Given the description of an element on the screen output the (x, y) to click on. 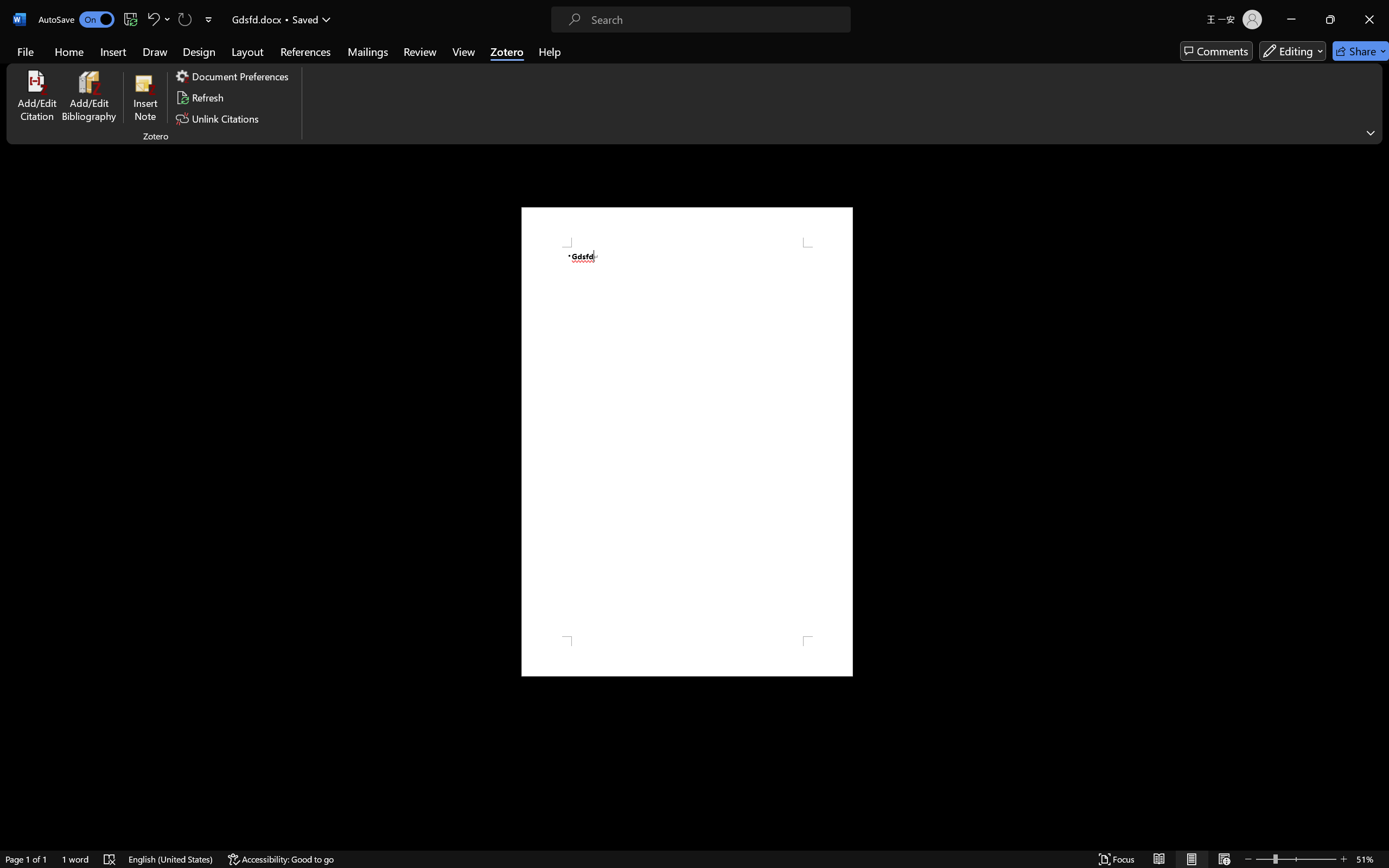
Page 1 content (686, 441)
